Given the description of an element on the screen output the (x, y) to click on. 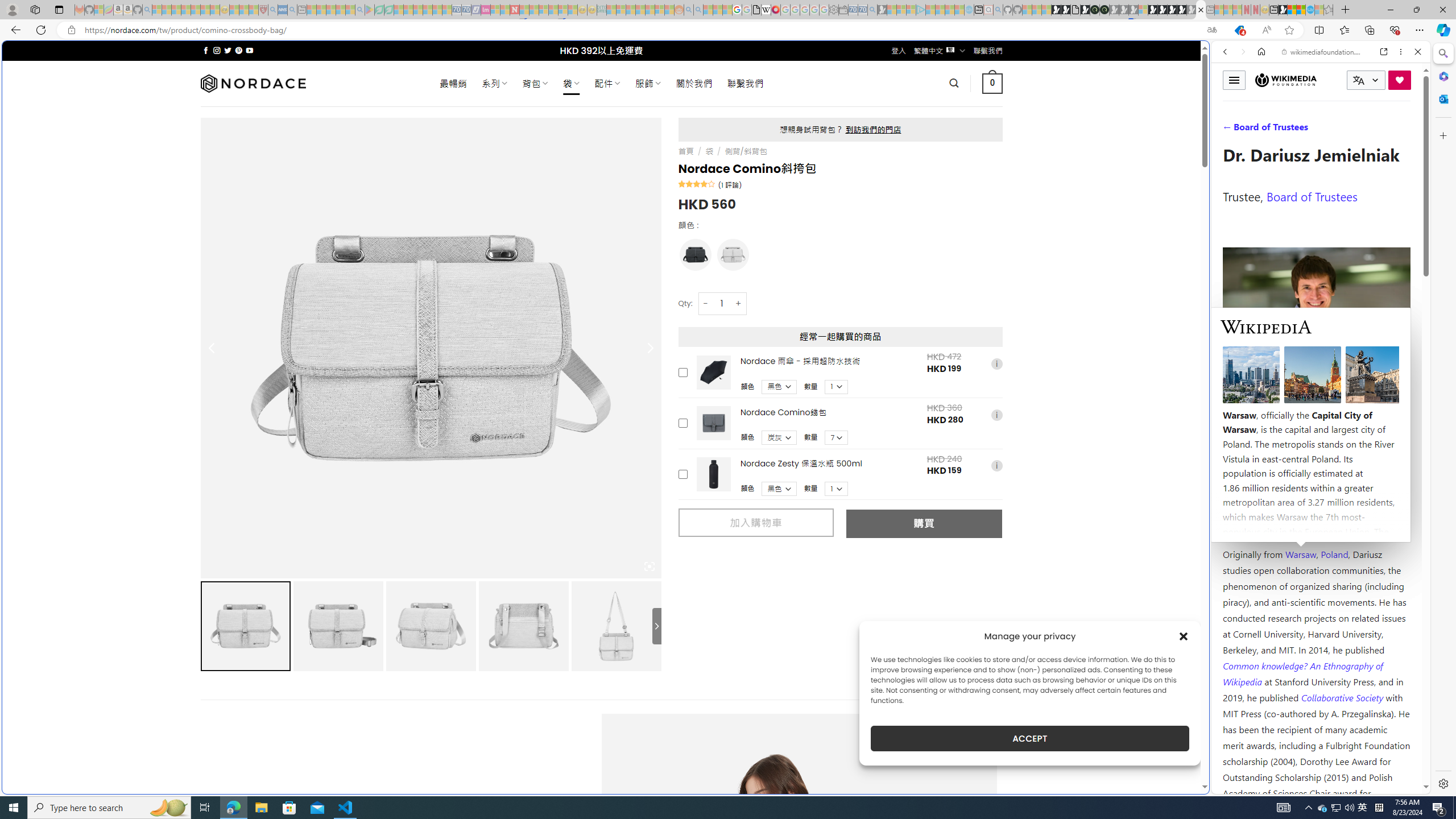
Donate now (1399, 80)
Common knowledge? An Ethnography of Wikipedia (1302, 672)
Tabs you've opened (885, 151)
